Given the description of an element on the screen output the (x, y) to click on. 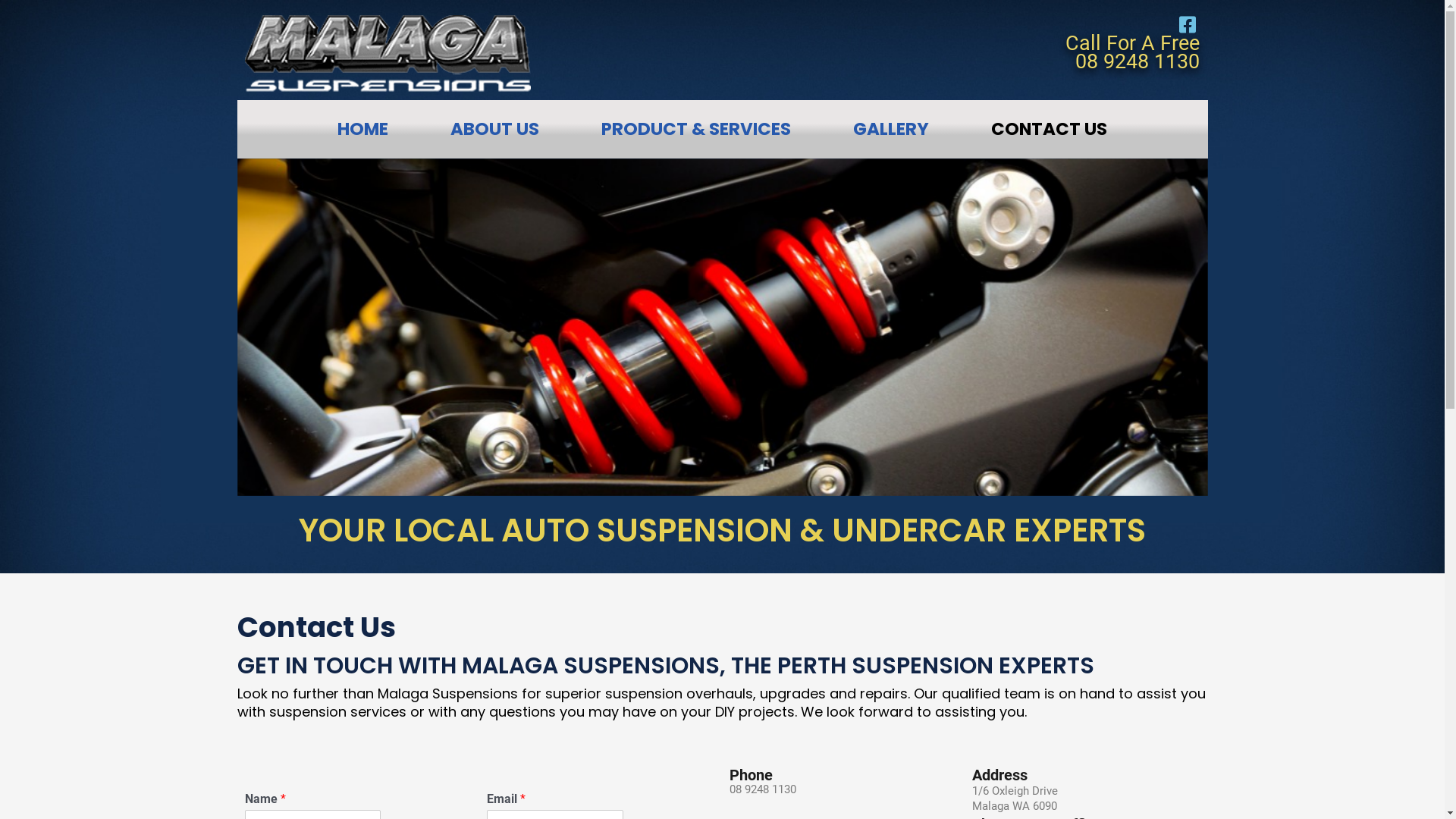
ABOUT US Element type: text (494, 128)
PRODUCT & SERVICES Element type: text (695, 128)
GALLERY Element type: text (890, 128)
CONTACT US Element type: text (1049, 128)
HOME Element type: text (362, 128)
